Given the description of an element on the screen output the (x, y) to click on. 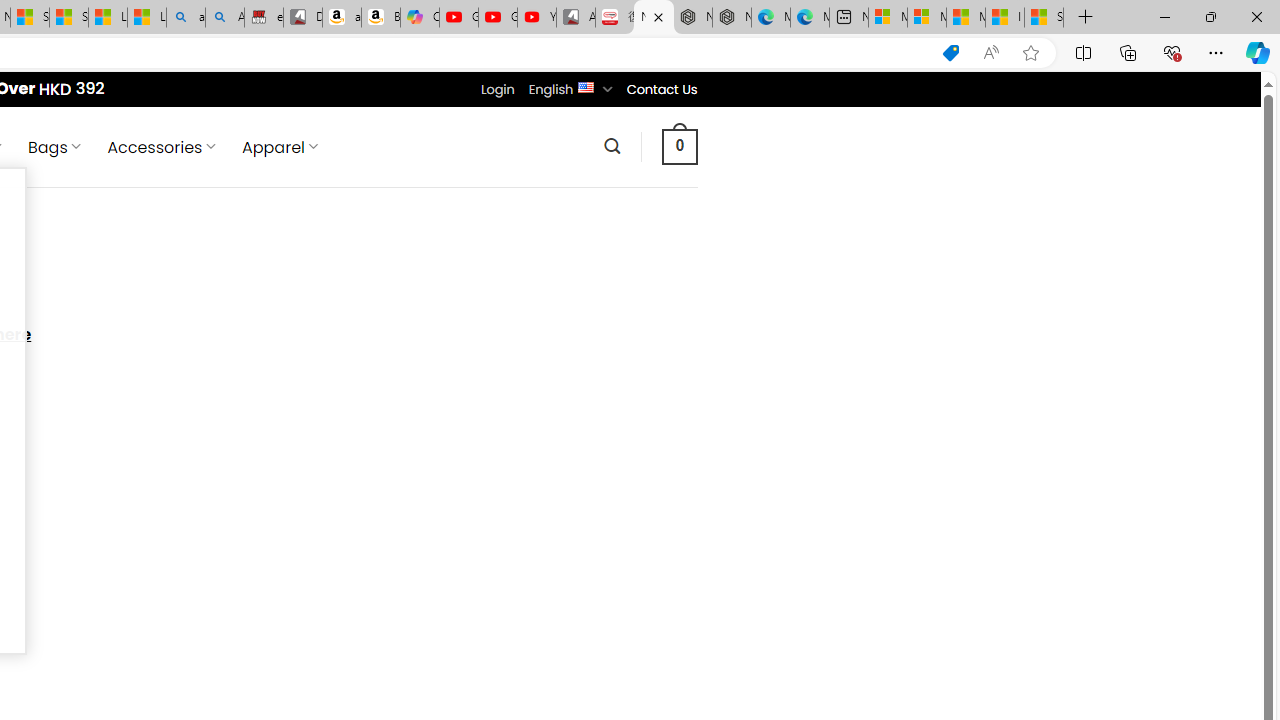
English (586, 86)
Nordace - Contact Us (653, 17)
Copilot (419, 17)
